Given the description of an element on the screen output the (x, y) to click on. 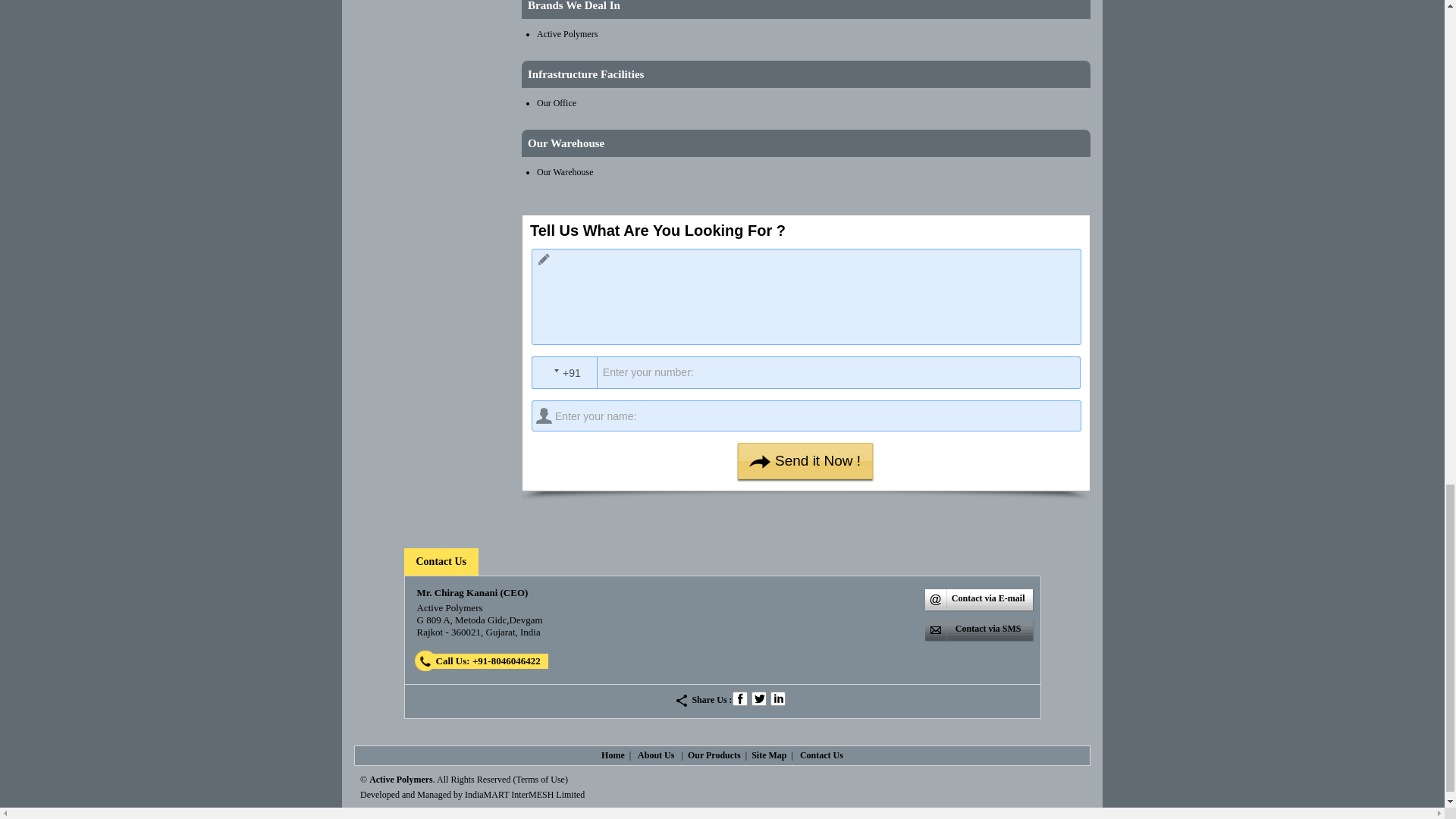
F (740, 698)
Contact Us (439, 561)
Send it Now ! (805, 461)
Send it Now ! (805, 461)
Enter your name: (806, 415)
Enter your number: (810, 372)
